Given the description of an element on the screen output the (x, y) to click on. 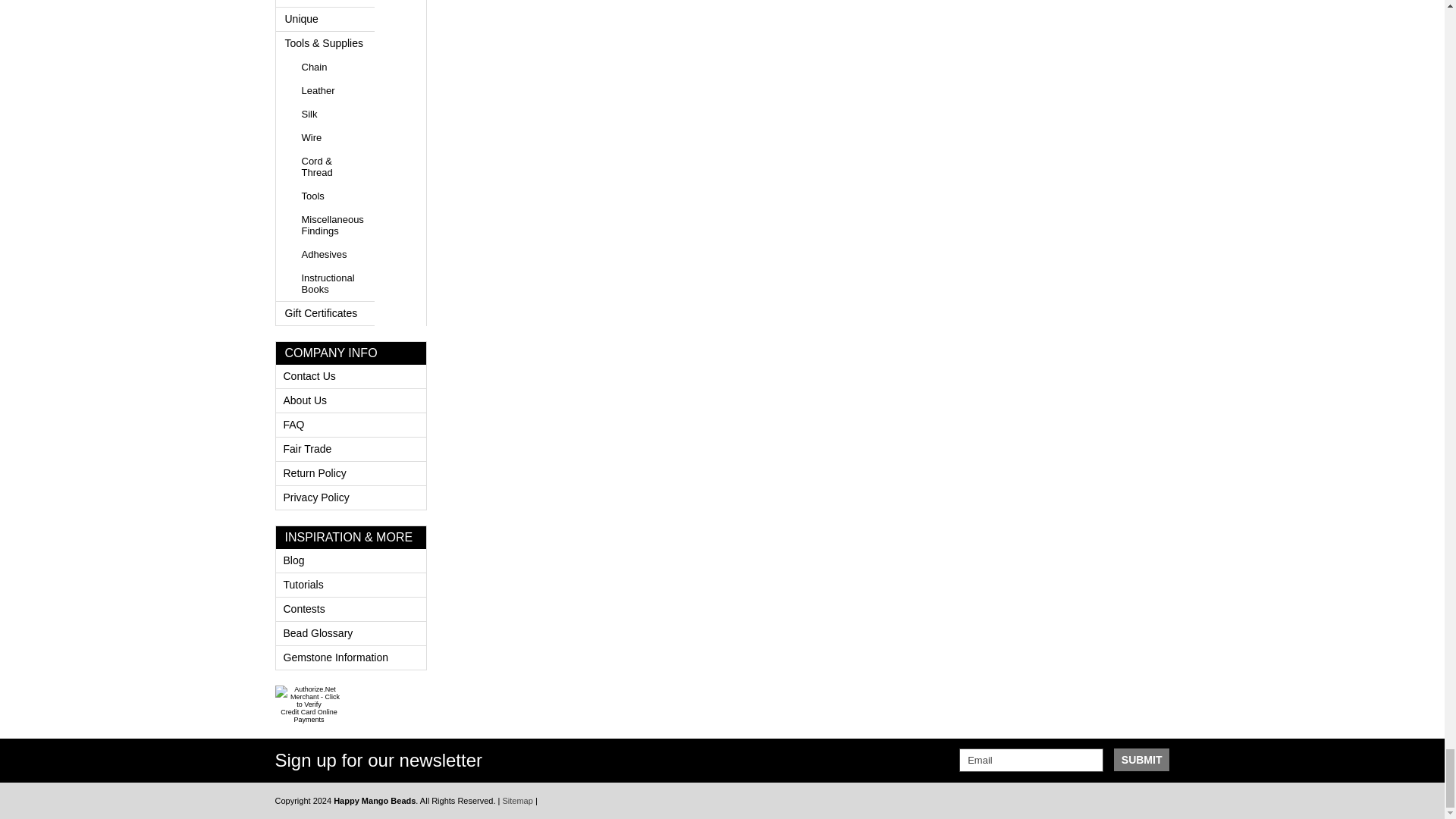
Email (1031, 760)
Submit (1141, 759)
